Given the description of an element on the screen output the (x, y) to click on. 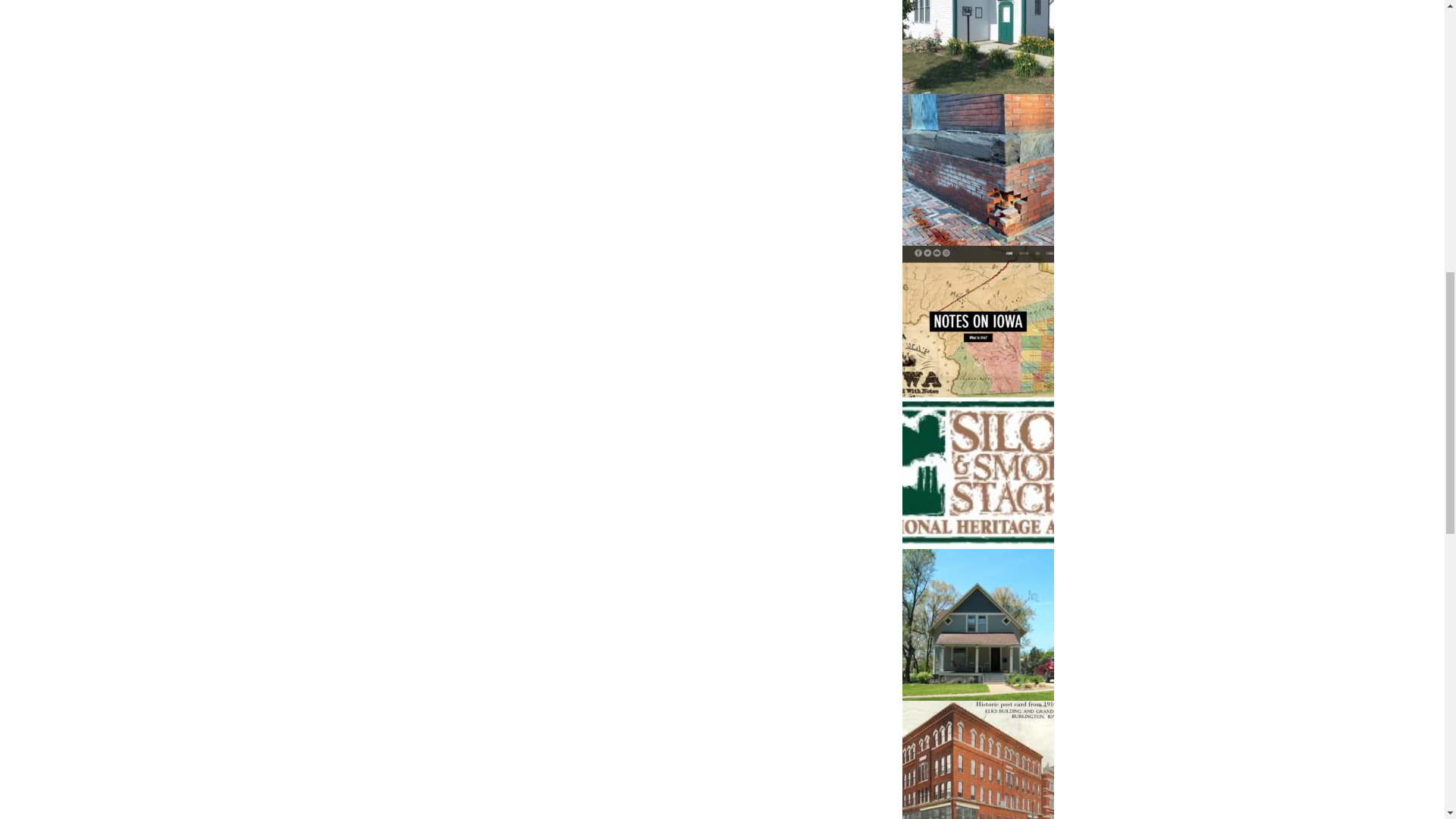
Notes on Iowa (978, 321)
RFP for Redevelopment of Burlington Elks Building (978, 760)
2021 Preservation at Its Best Nomination Form (978, 624)
